Given the description of an element on the screen output the (x, y) to click on. 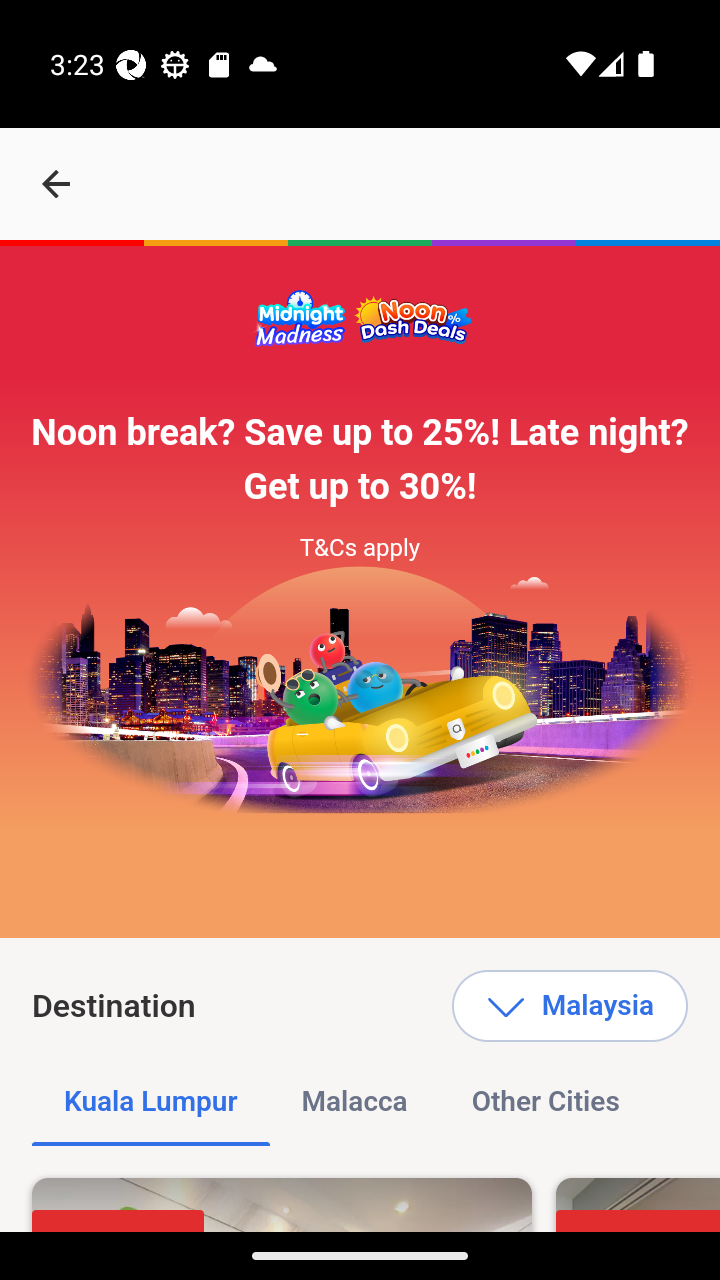
navigation_button (56, 184)
Malaysia (569, 1005)
Kuala Lumpur (151, 1101)
Malacca (353, 1101)
Other Cities (544, 1101)
